Given the description of an element on the screen output the (x, y) to click on. 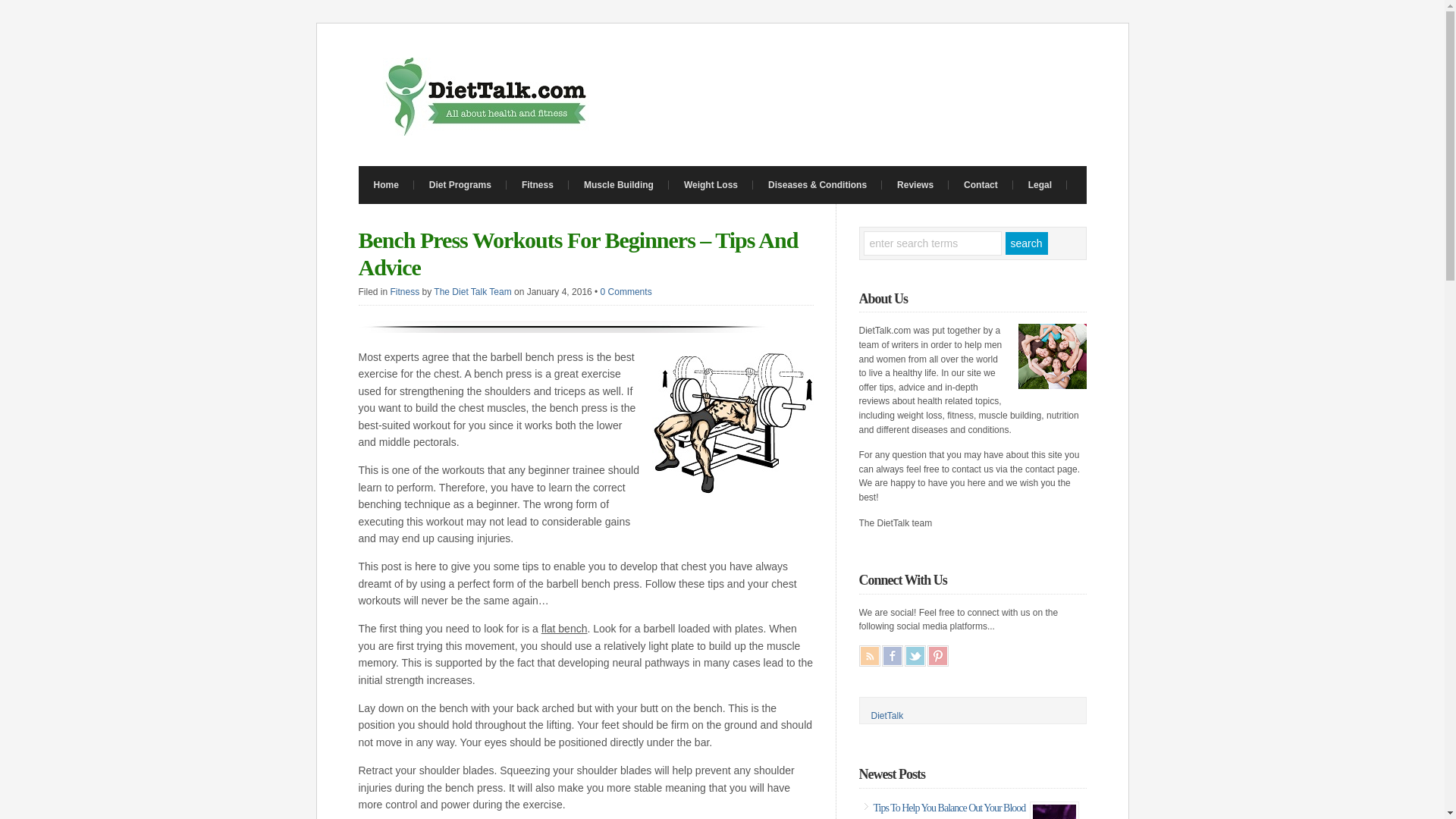
Contact (981, 184)
Fitness (405, 291)
The Diet Talk Team (472, 291)
Follow Me on Twitter (914, 655)
Fitness (537, 184)
Muscle Building (618, 184)
search (1027, 242)
Home (385, 184)
Reviews (915, 184)
DietTalk (886, 715)
